Given the description of an element on the screen output the (x, y) to click on. 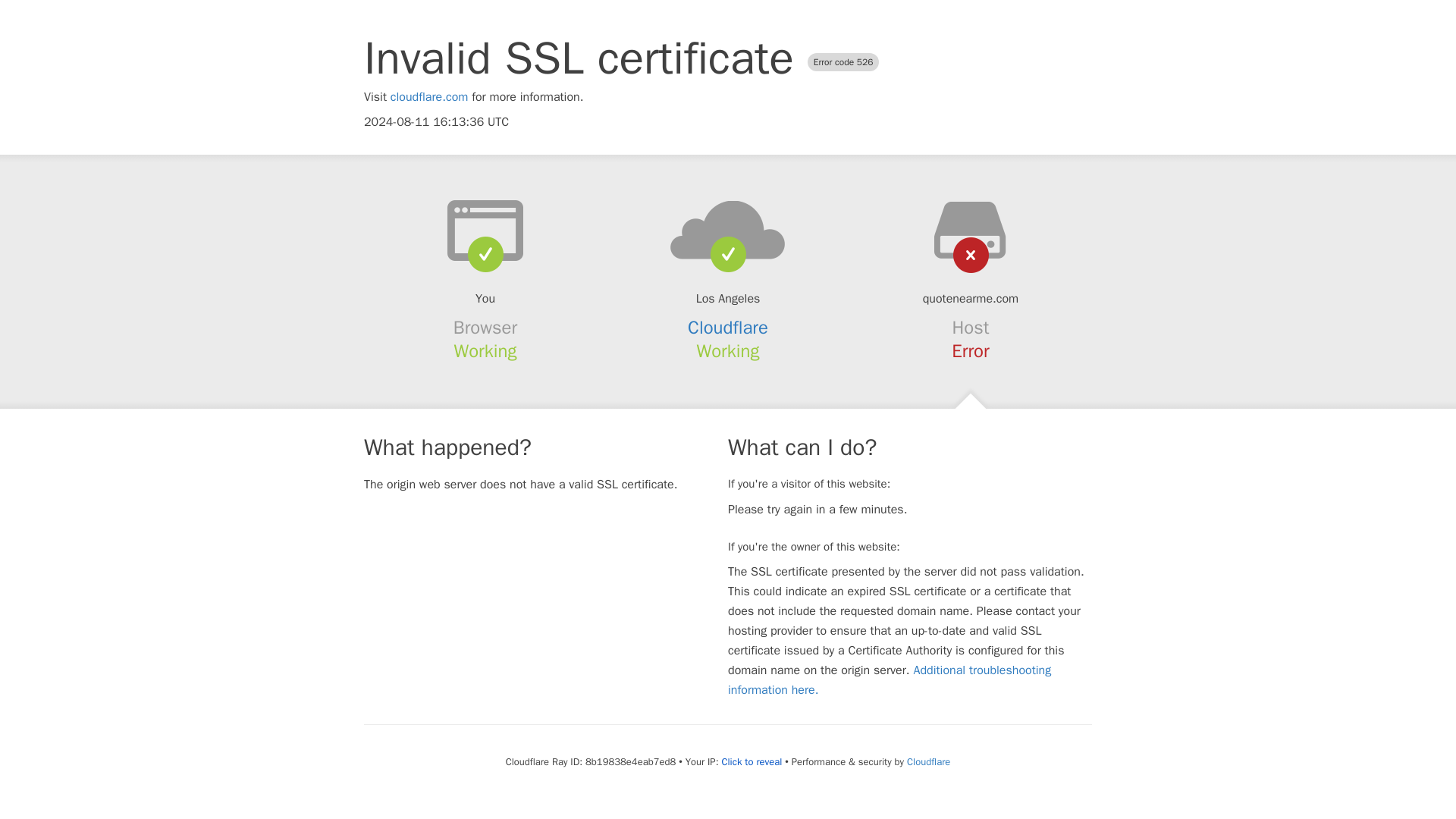
Click to reveal (750, 762)
Cloudflare (727, 327)
Cloudflare (928, 761)
Additional troubleshooting information here. (889, 679)
cloudflare.com (429, 96)
